Given the description of an element on the screen output the (x, y) to click on. 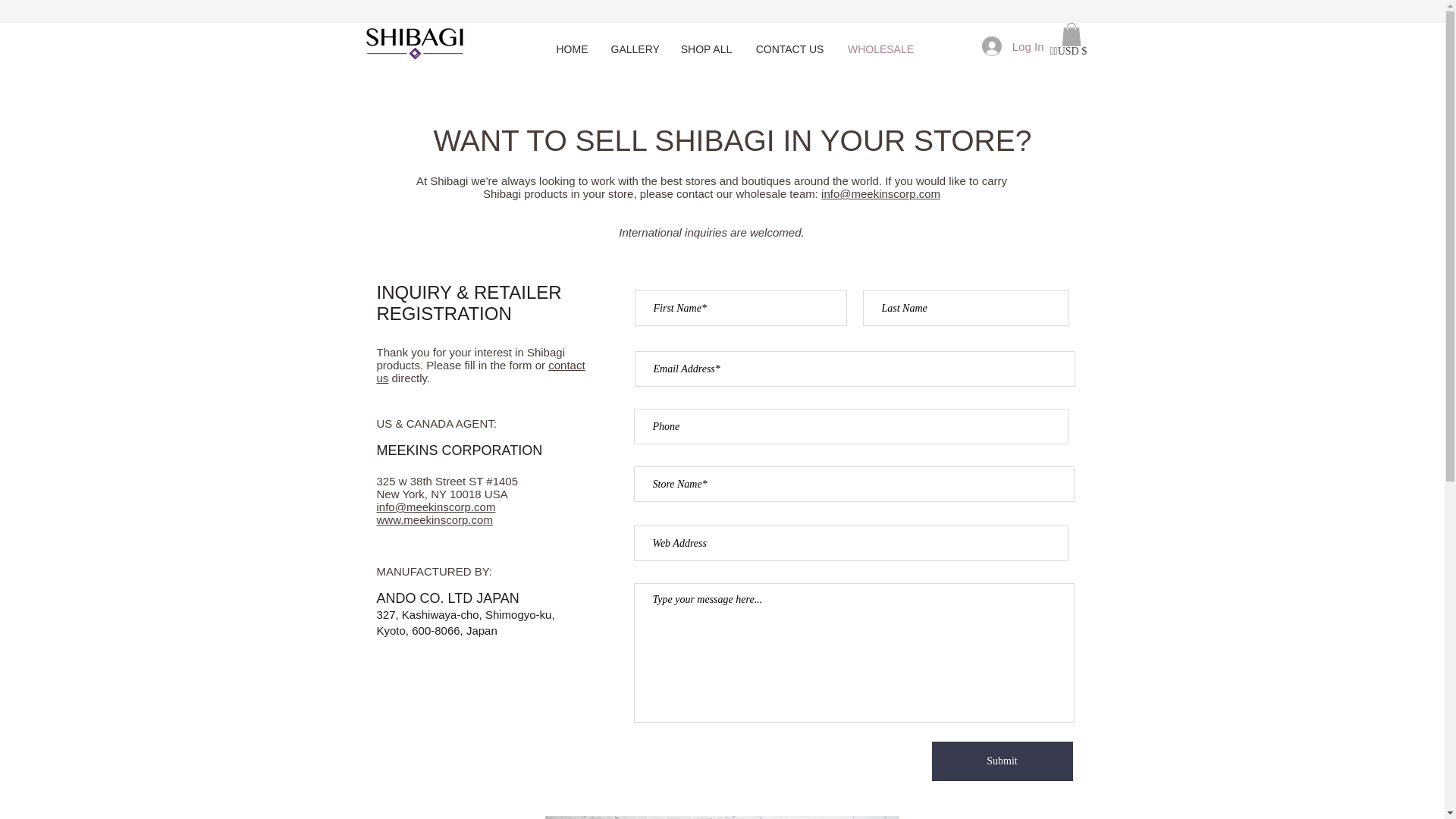
GALLERY (633, 49)
WHOLESALE (879, 49)
contact us (480, 371)
Log In (1012, 45)
HOME (571, 49)
www.meekinscorp.com (433, 519)
Submit (1001, 761)
CONTACT US (788, 49)
SHOP ALL (705, 49)
